Given the description of an element on the screen output the (x, y) to click on. 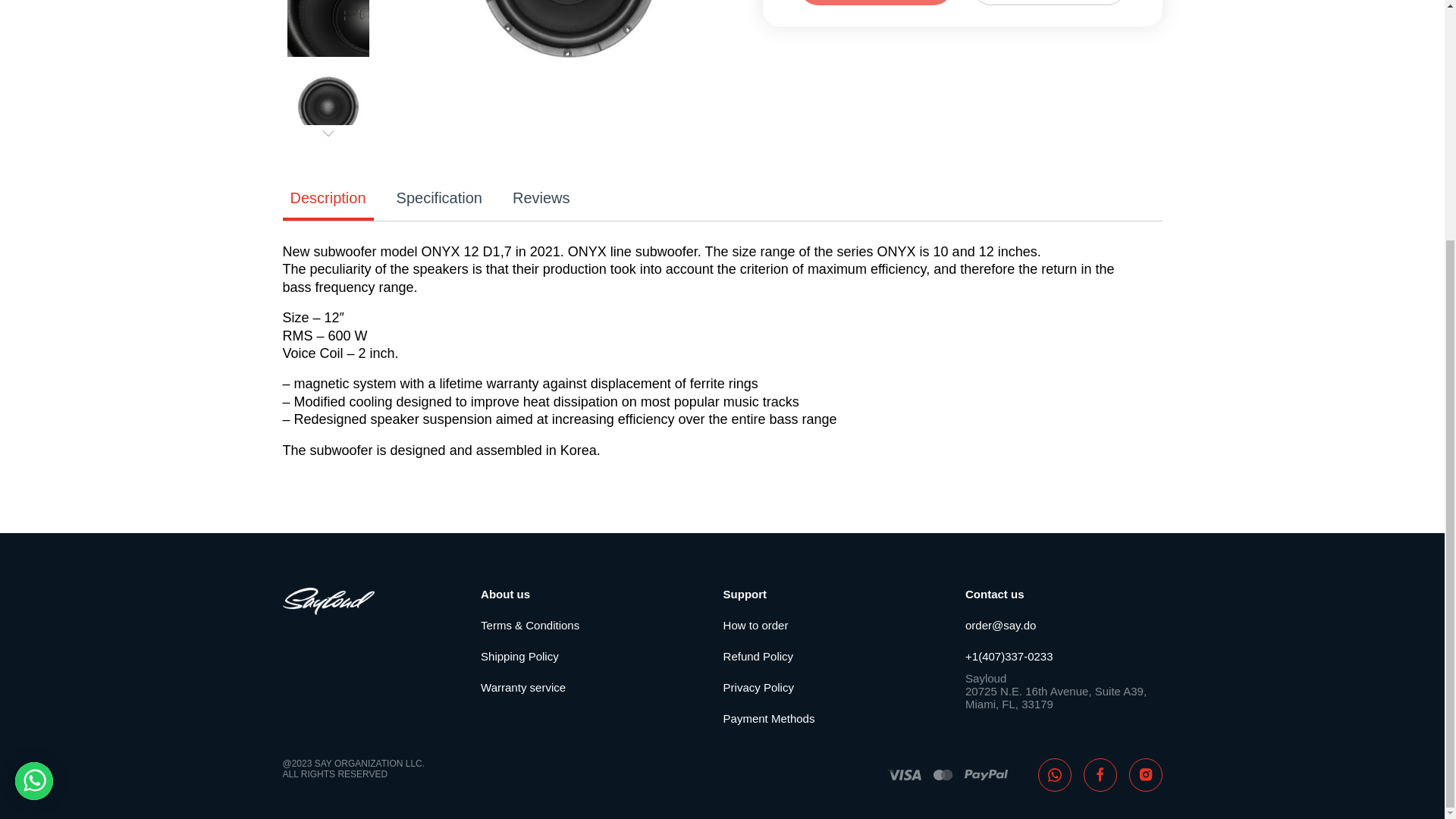
Description (327, 197)
Payment Methods (821, 717)
Refund Policy (821, 655)
How to order (821, 624)
Privacy Policy (821, 686)
Specification (438, 197)
Buy now (1048, 2)
Add to cart (875, 2)
About us (578, 594)
Reviews (541, 197)
Shipping Policy (578, 655)
Warranty service (578, 686)
Next (327, 135)
